Given the description of an element on the screen output the (x, y) to click on. 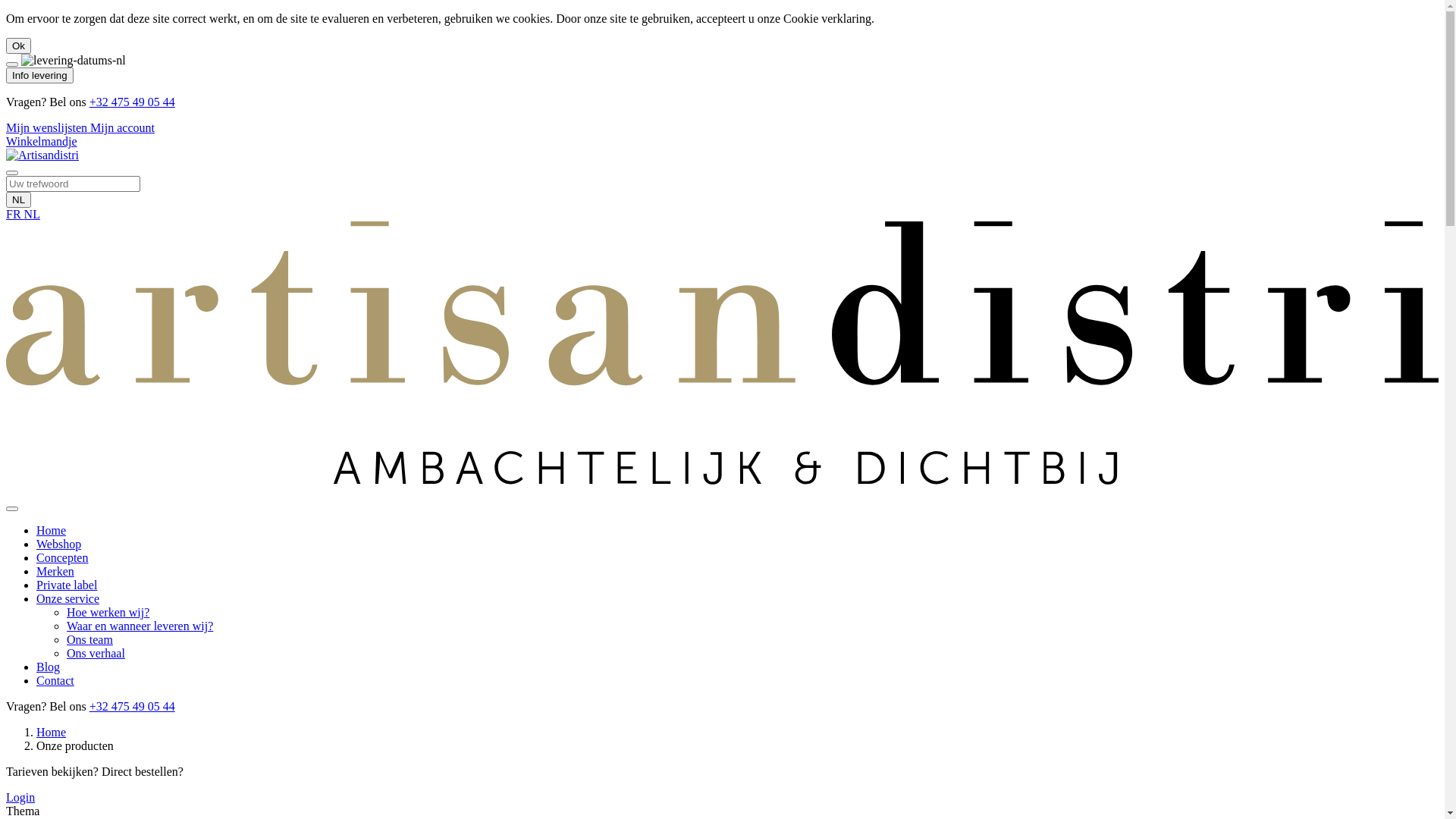
Home Element type: text (50, 731)
Onze service Element type: text (67, 598)
Mijn wenslijsten Element type: text (48, 127)
Ons team Element type: text (89, 639)
Cookie verklaring. Element type: text (828, 18)
Ons verhaal Element type: text (95, 652)
Waar en wanneer leveren wij? Element type: text (139, 625)
Artisandistri Element type: hover (722, 358)
Login Element type: text (20, 796)
Home Element type: text (50, 530)
Blog Element type: text (47, 666)
Winkelmandje Element type: text (41, 140)
Merken Element type: text (55, 570)
Uw trefwoord Element type: hover (73, 183)
Contact Element type: text (55, 680)
Info levering Element type: text (39, 75)
NL Element type: text (18, 199)
Hoe werken wij? Element type: text (107, 611)
Artisandistri Element type: hover (42, 154)
NL Element type: text (32, 213)
+32 475 49 05 44 Element type: text (132, 101)
Concepten Element type: text (61, 557)
Private label Element type: text (66, 584)
Artisandistri Element type: hover (42, 155)
Zoek Element type: hover (12, 172)
Ok Element type: text (18, 45)
levering-datums-nl Element type: hover (73, 60)
FR Element type: text (15, 213)
Artisandistri Element type: hover (722, 490)
Mijn account Element type: text (122, 127)
Webshop Element type: text (58, 543)
+32 475 49 05 44 Element type: text (132, 705)
